Given the description of an element on the screen output the (x, y) to click on. 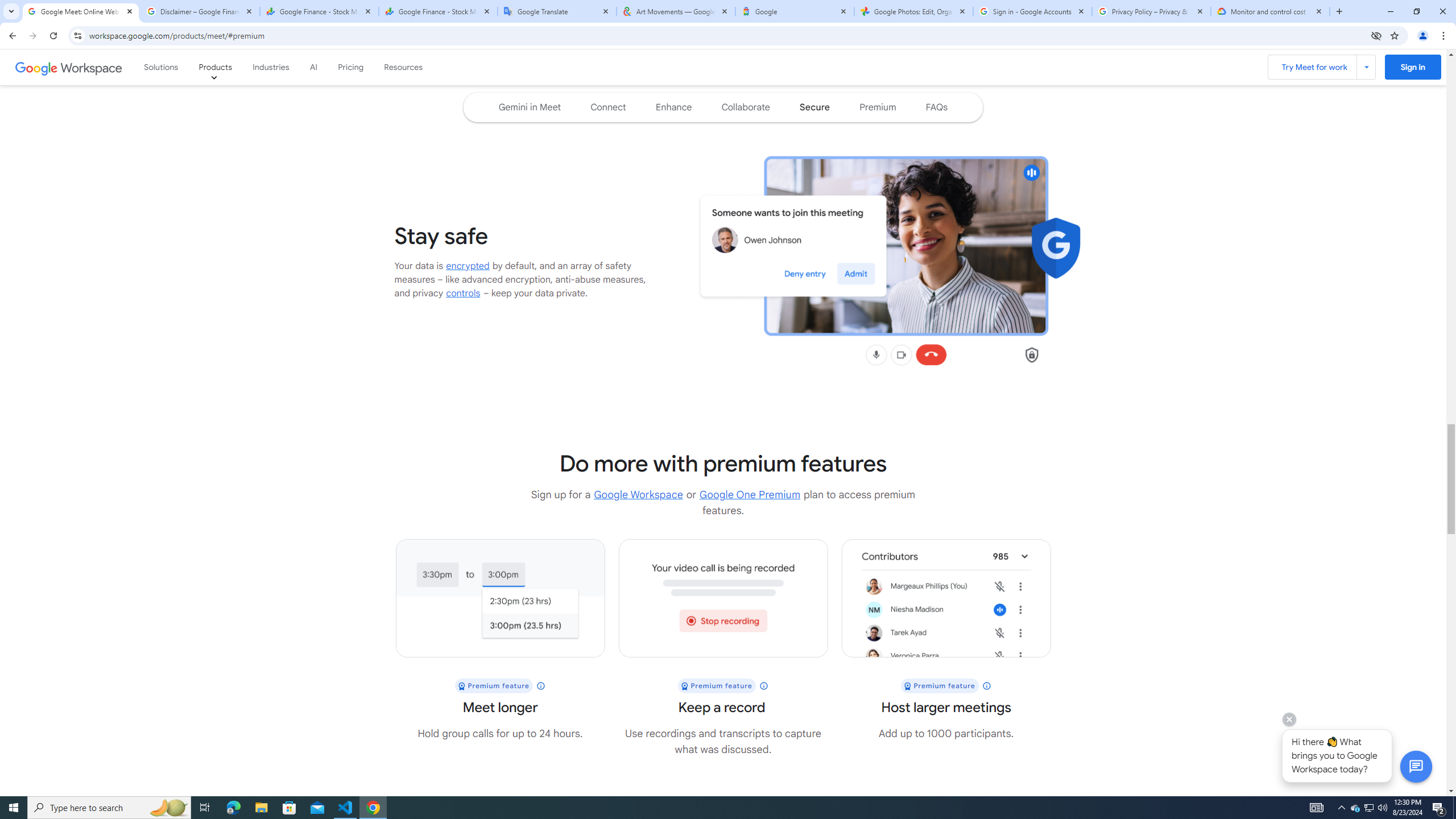
Jump to the secure section of the page (814, 107)
AI (312, 67)
Sign into Google Meet  (1412, 66)
Google Translate (556, 11)
Google (794, 11)
UI showing a meeting being recorded. (723, 597)
Sign in - Google Accounts (1032, 11)
Jump to the premium section of the page (877, 107)
